Given the description of an element on the screen output the (x, y) to click on. 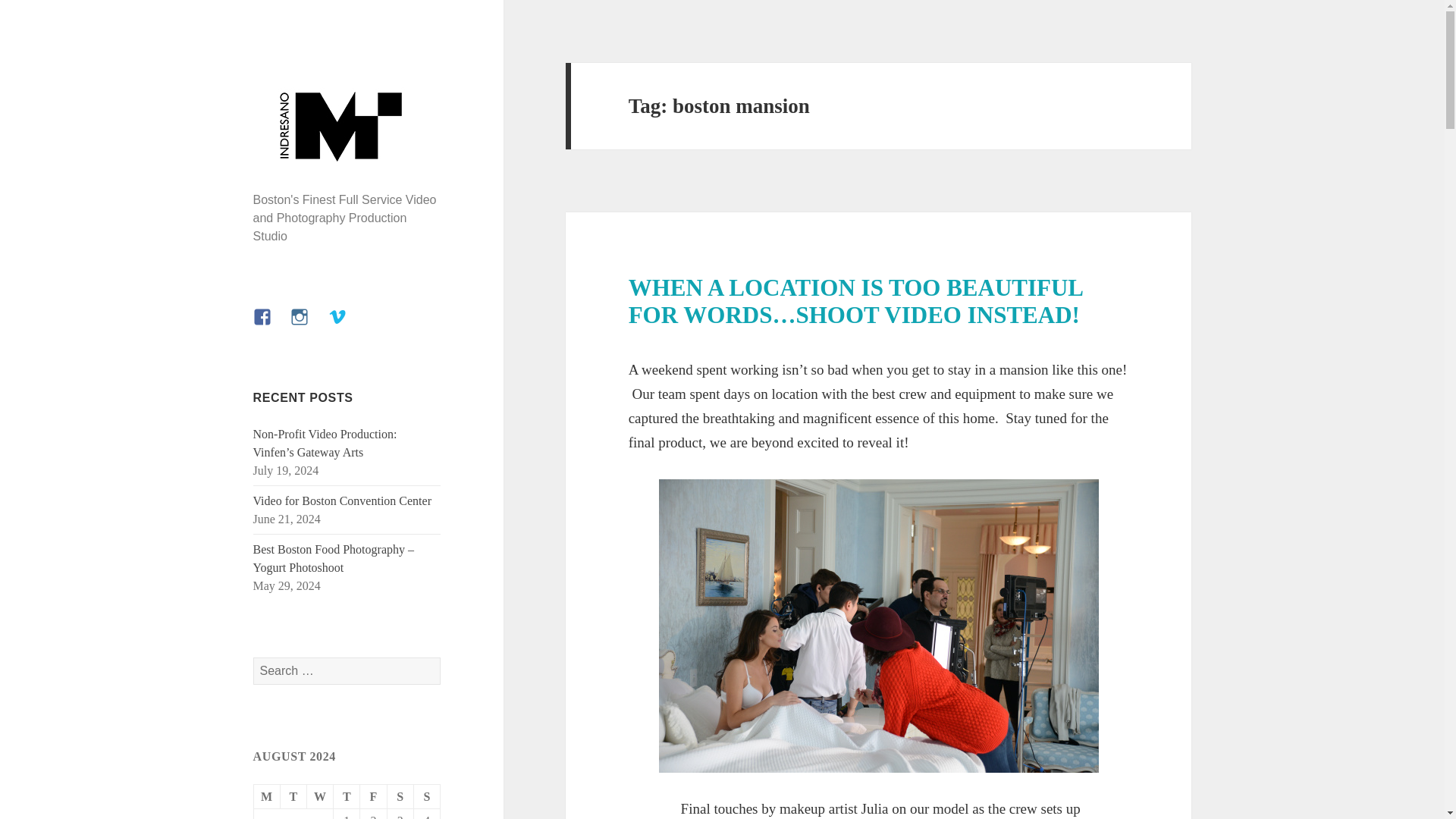
Instagram (307, 325)
Friday (373, 796)
Vimeo (347, 325)
Thursday (346, 796)
Monday (267, 796)
Wednesday (320, 796)
Video for Boston Convention Center (341, 500)
Sunday (427, 796)
Tuesday (294, 796)
Facebook (271, 325)
Saturday (400, 796)
